Given the description of an element on the screen output the (x, y) to click on. 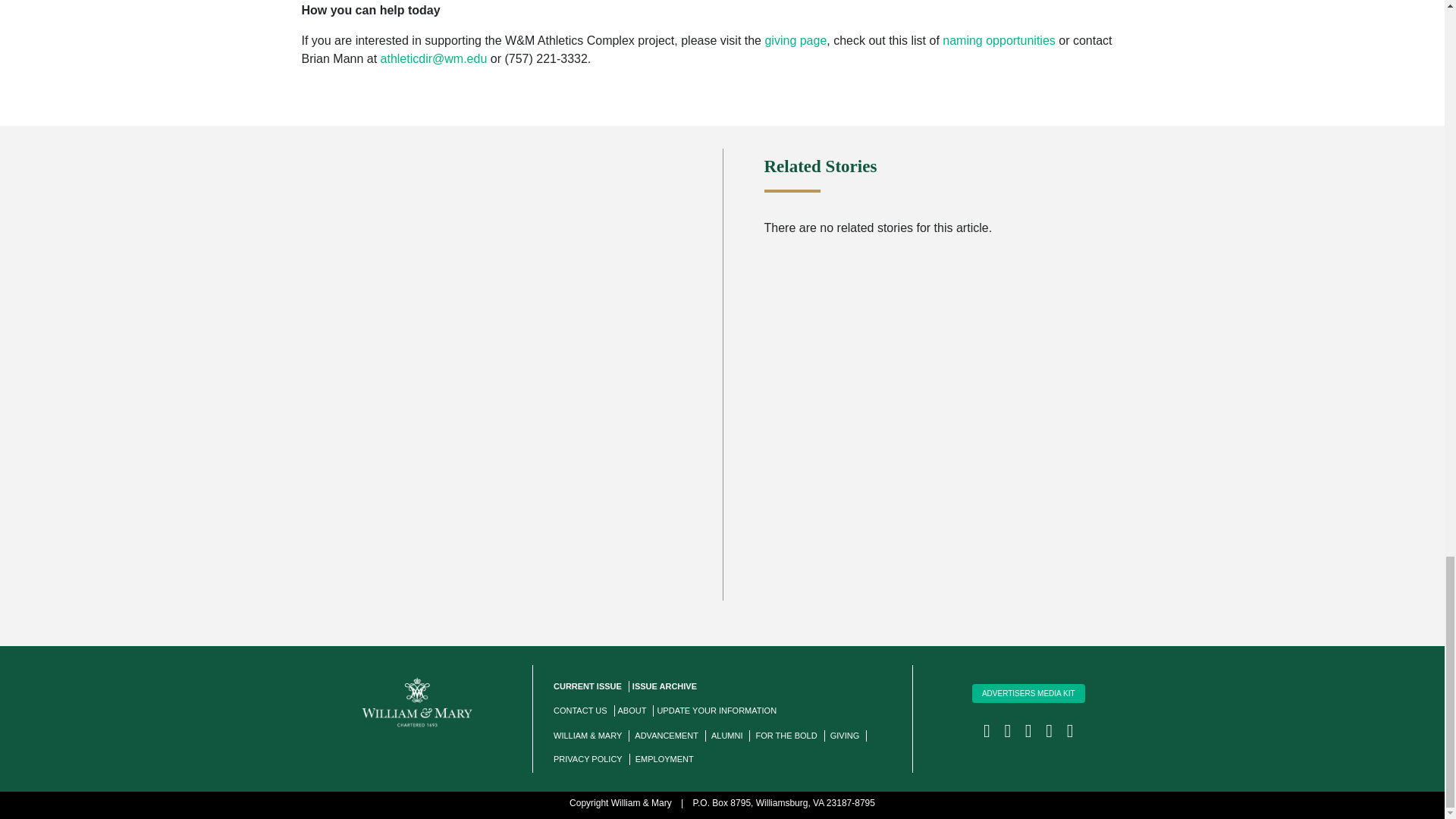
naming opportunities (998, 40)
CURRENT ISSUE (587, 686)
giving page (795, 40)
